Given the description of an element on the screen output the (x, y) to click on. 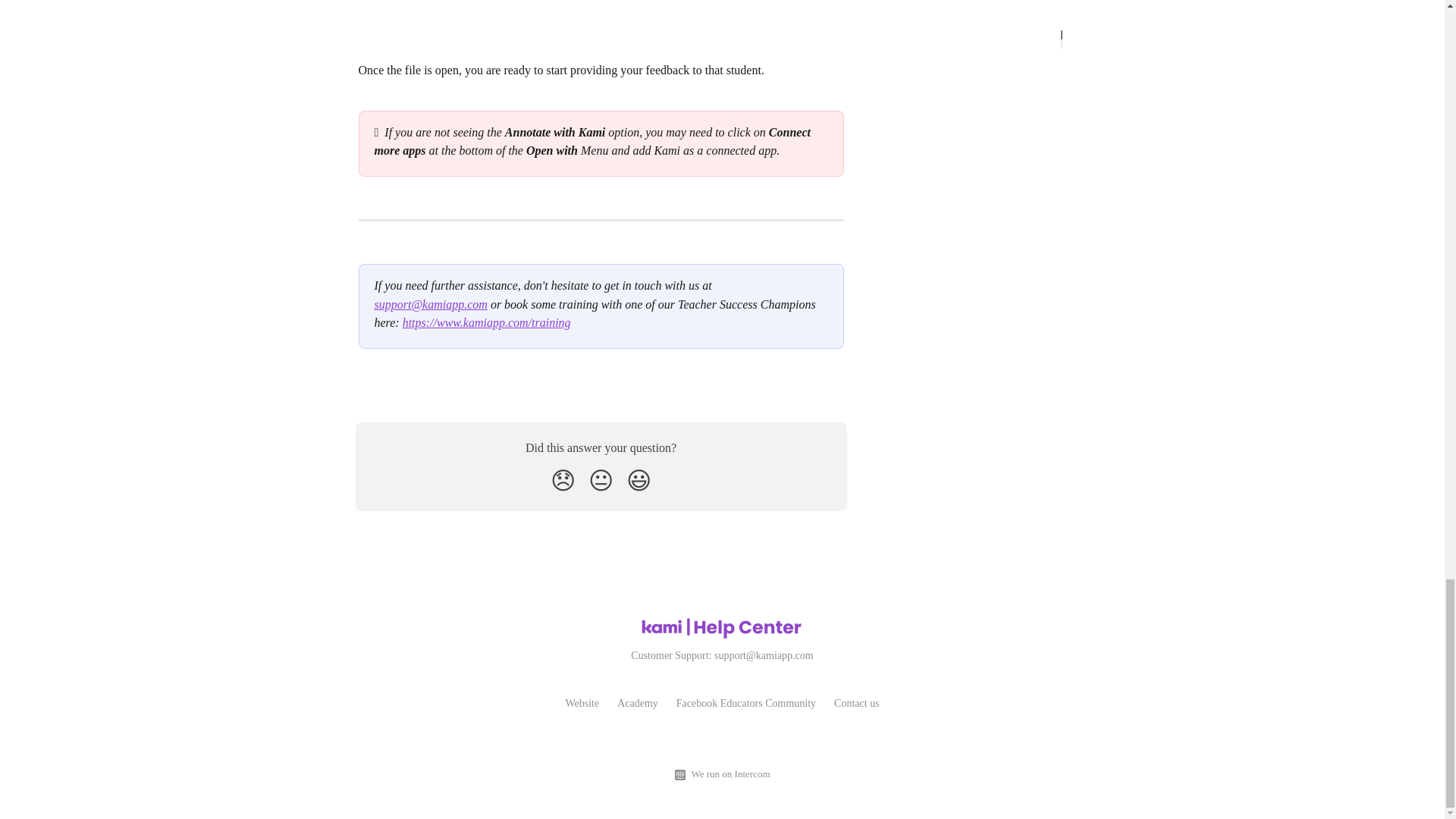
Website (581, 703)
Contact us (856, 703)
Facebook Educators Community (746, 703)
Disappointed (562, 480)
We run on Intercom (727, 774)
Academy (637, 703)
Smiley (638, 480)
Neutral (600, 480)
